Given the description of an element on the screen output the (x, y) to click on. 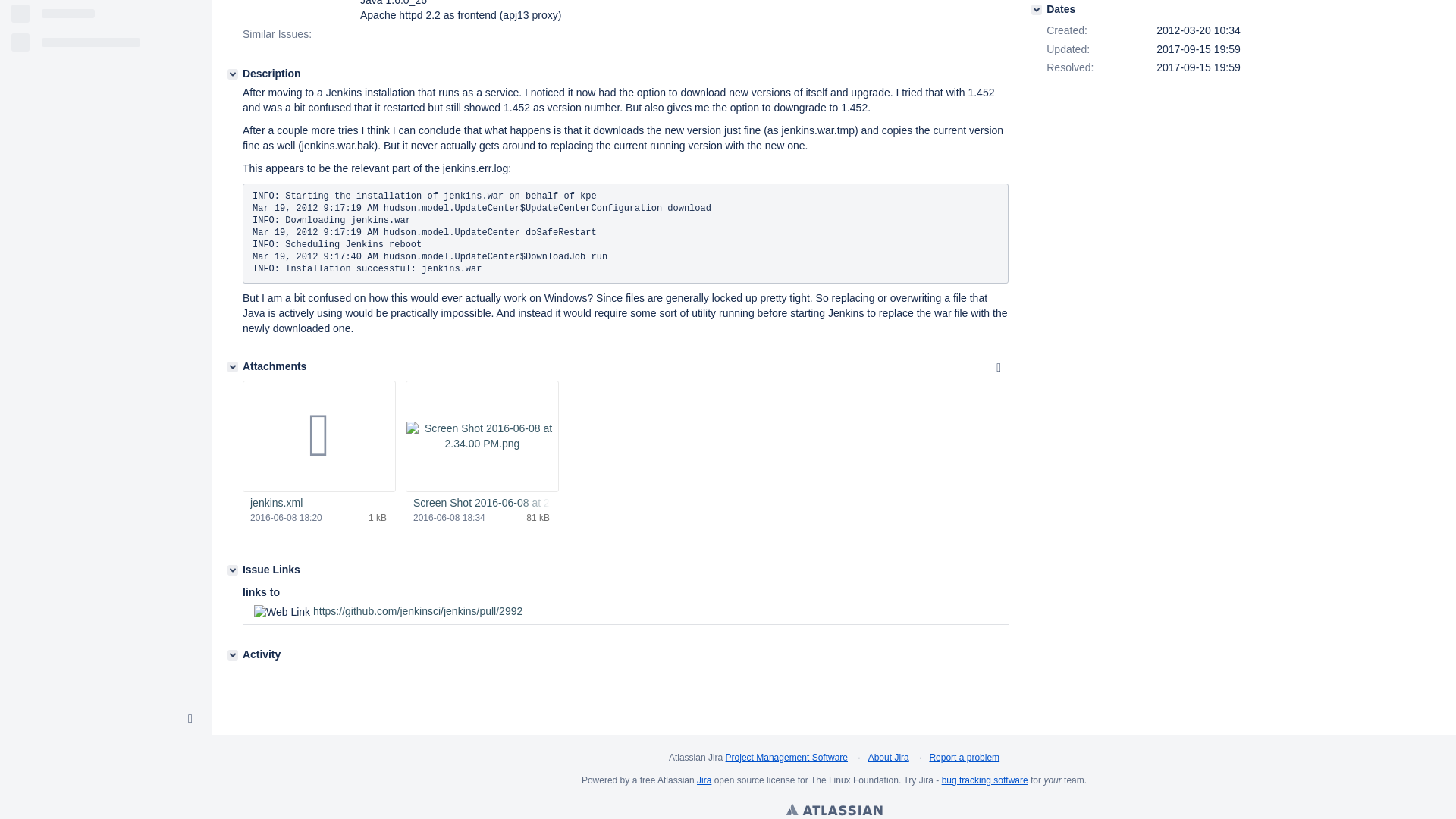
jenkins.xml (318, 503)
Description (232, 73)
Attachments (232, 366)
Options (998, 367)
